Given the description of an element on the screen output the (x, y) to click on. 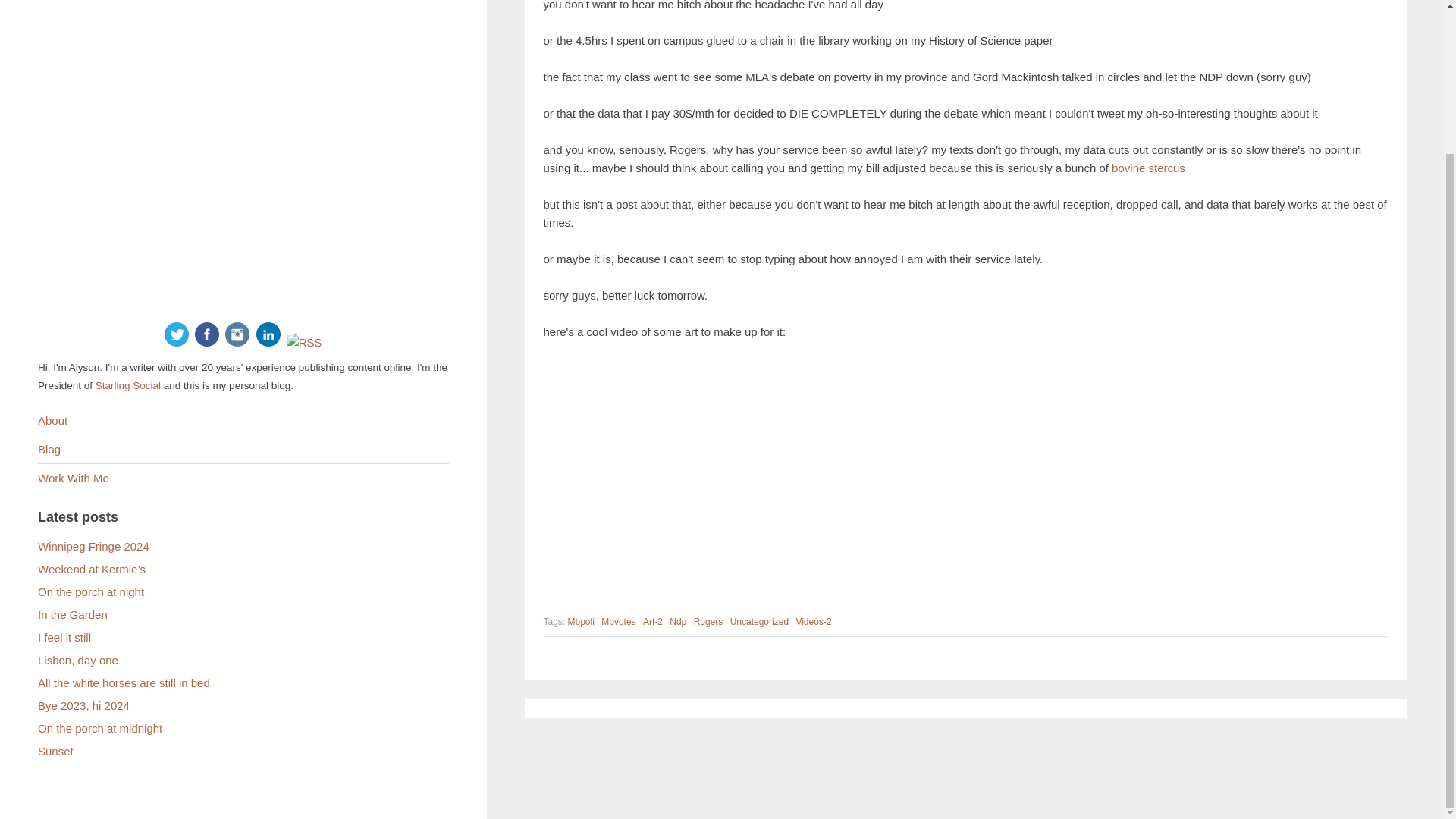
Blog (49, 449)
Sunset (55, 750)
Lisbon, day one (77, 659)
On the porch at night (90, 591)
I feel it still (63, 636)
Uncategorized (759, 621)
Rogers (708, 621)
Mbpoli (580, 621)
Work With Me (73, 477)
On the porch at midnight (99, 727)
Art-2 (652, 621)
Videos-2 (812, 621)
bovine stercus (1148, 167)
Mbvotes (617, 621)
About (51, 420)
